Given the description of an element on the screen output the (x, y) to click on. 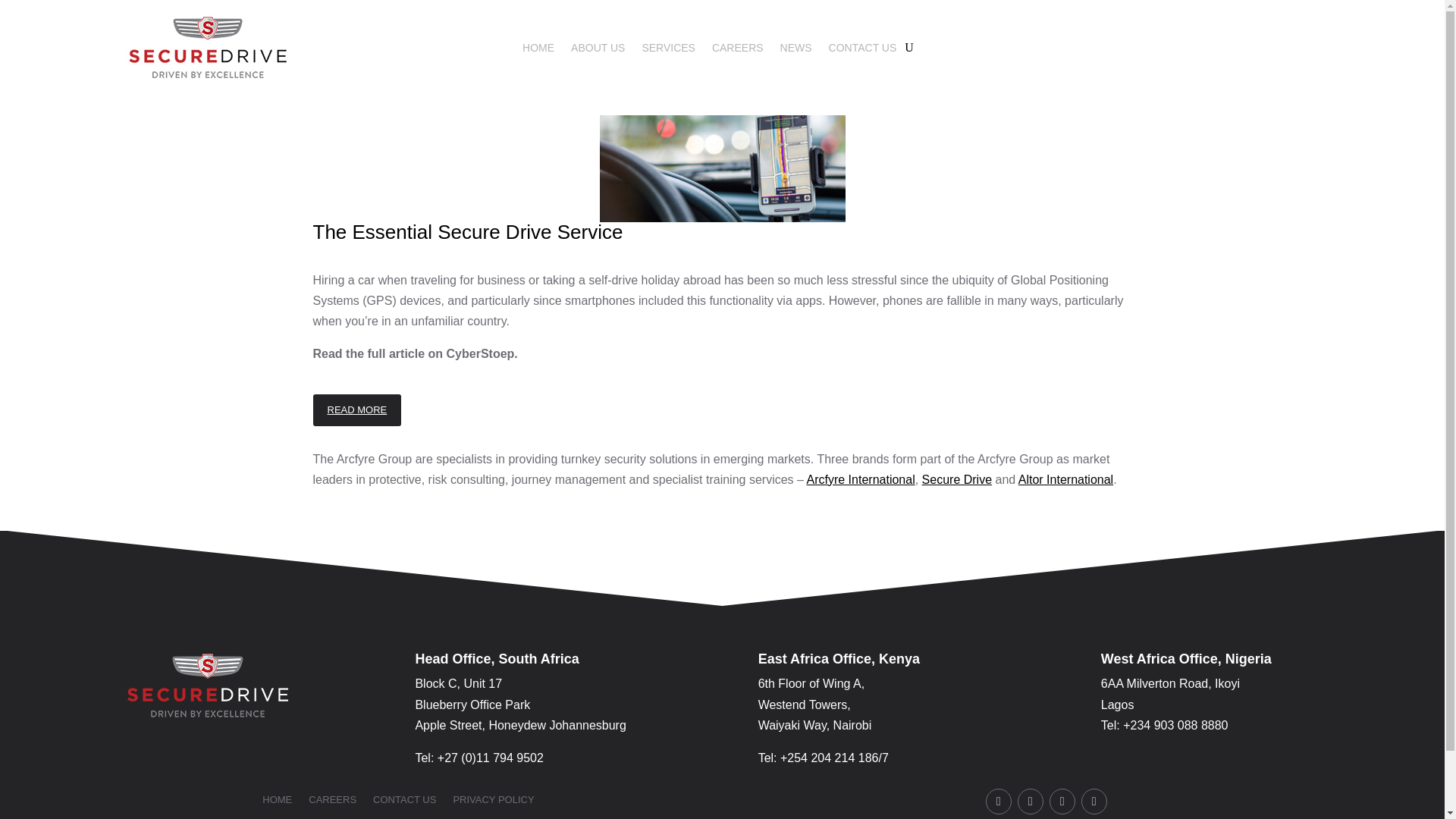
Follow on Facebook (998, 801)
Follow on LinkedIn (1093, 801)
THE-ESSENTIAL-SECURE-DRIVE-SERVICE (721, 168)
footer-logo (207, 685)
PRIVACY POLICY (493, 802)
Follow on Instagram (1030, 801)
CONTACT US (403, 802)
HOME (538, 50)
HOME (277, 802)
Arcfyre International (860, 479)
secure-drive-logo-fin (207, 47)
CONTACT US (862, 50)
Secure Drive (956, 479)
READ MORE (357, 409)
CAREERS (332, 802)
